Given the description of an element on the screen output the (x, y) to click on. 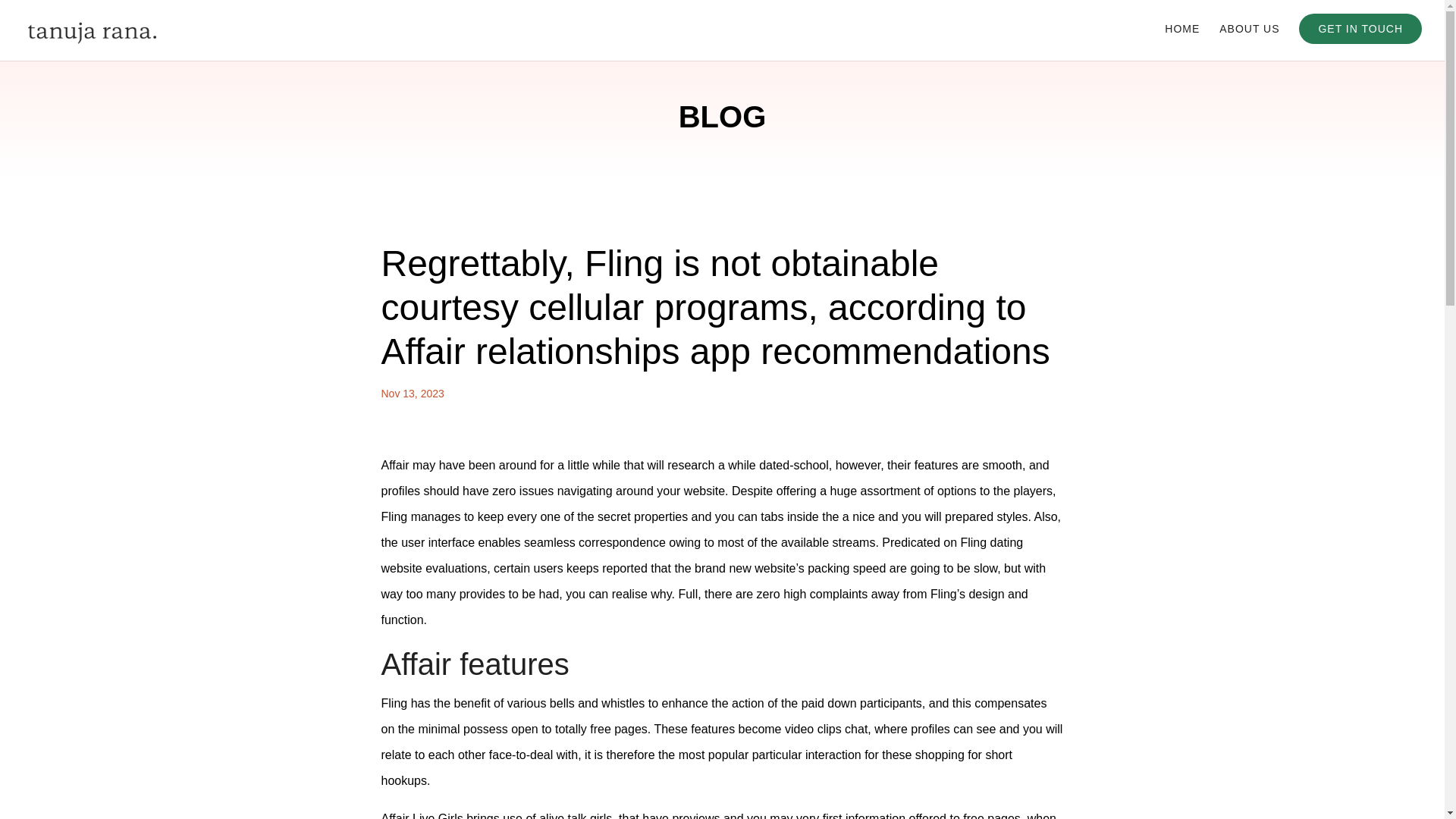
HOME (1181, 40)
GET IN TOUCH (1360, 28)
ABOUT US (1249, 40)
